Given the description of an element on the screen output the (x, y) to click on. 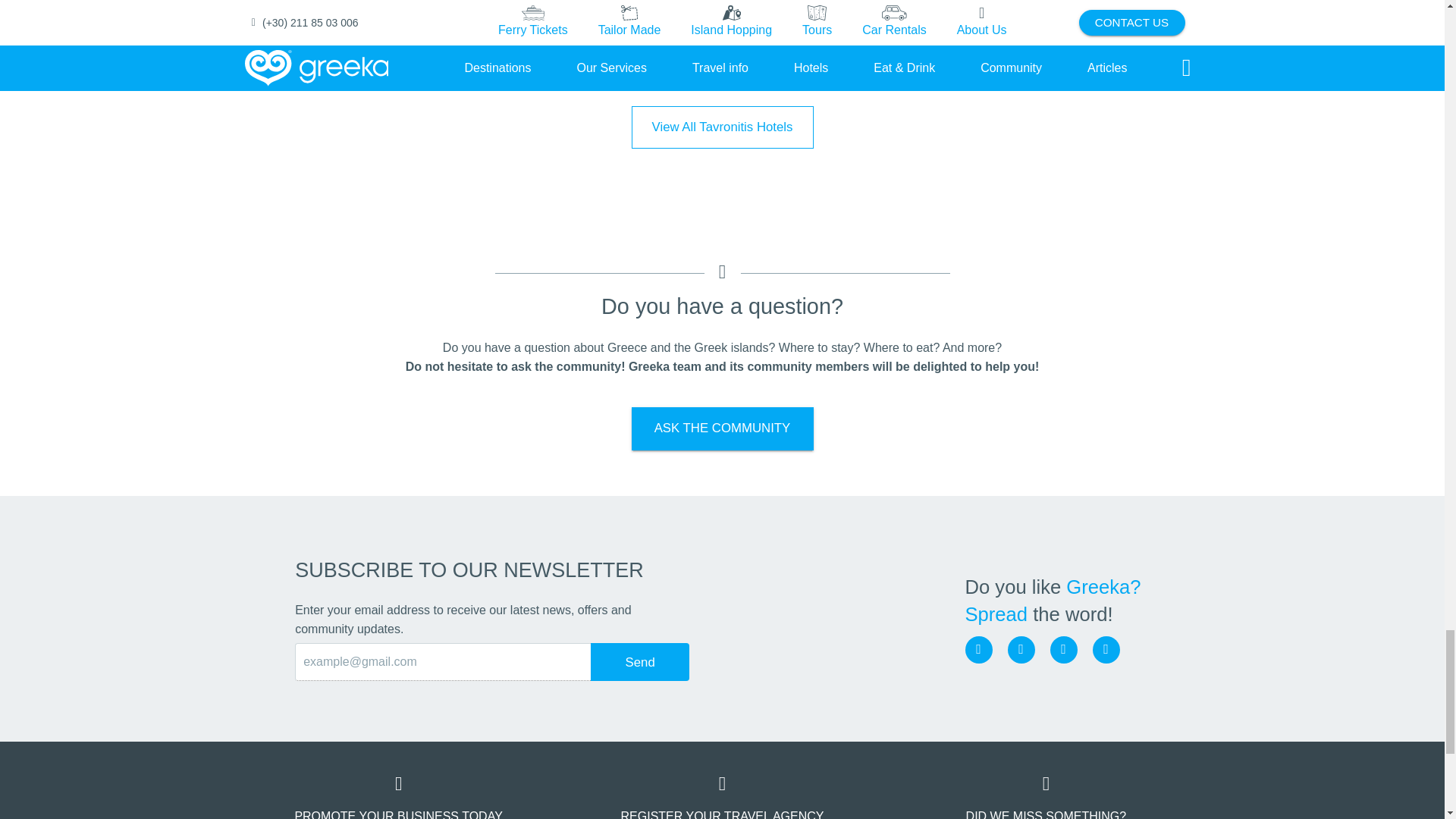
Send (639, 661)
